Given the description of an element on the screen output the (x, y) to click on. 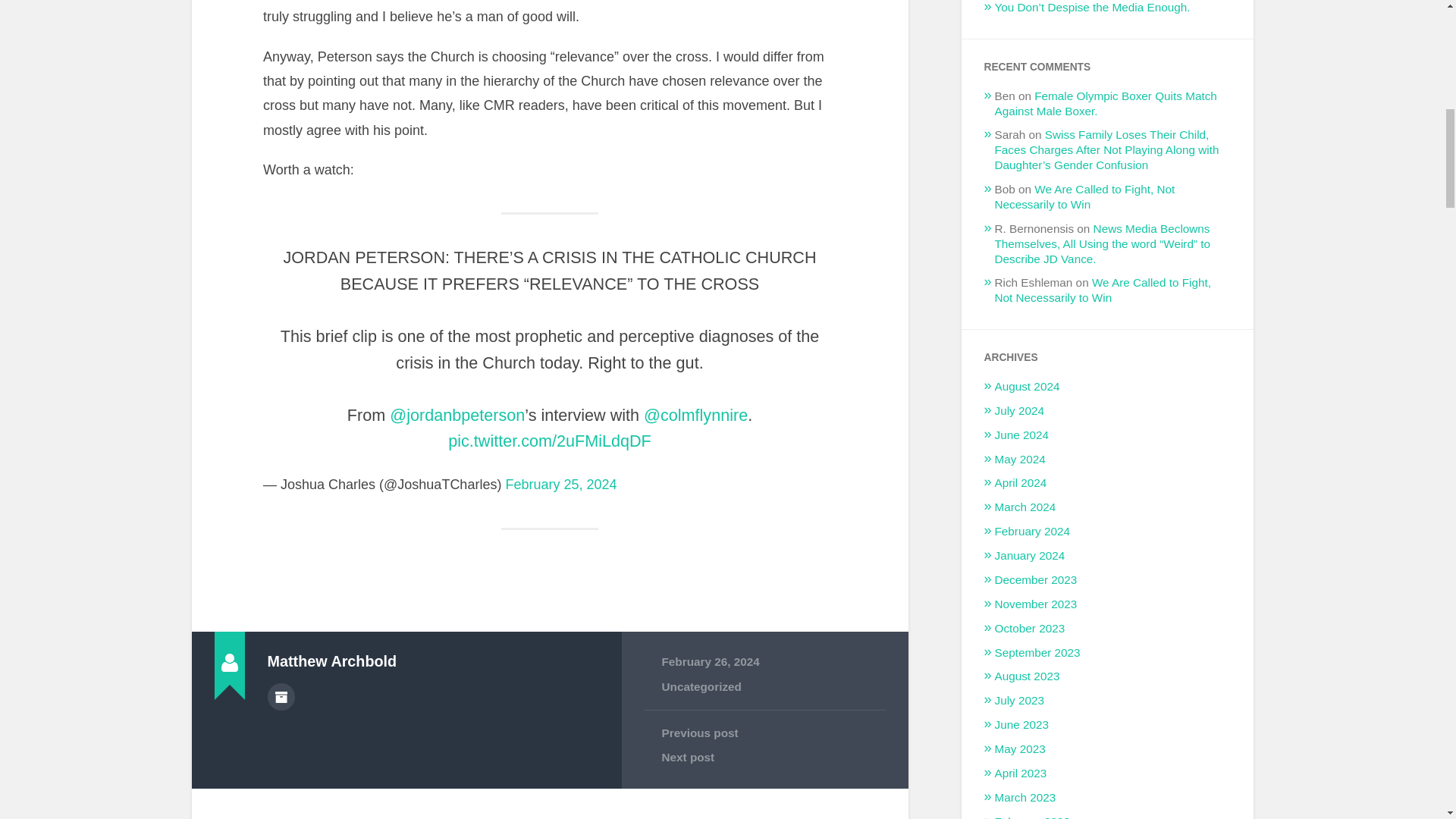
February 25, 2024 (560, 484)
Uncategorized (701, 686)
Next post (765, 757)
Previous post (765, 733)
Author archive (280, 696)
